Given the description of an element on the screen output the (x, y) to click on. 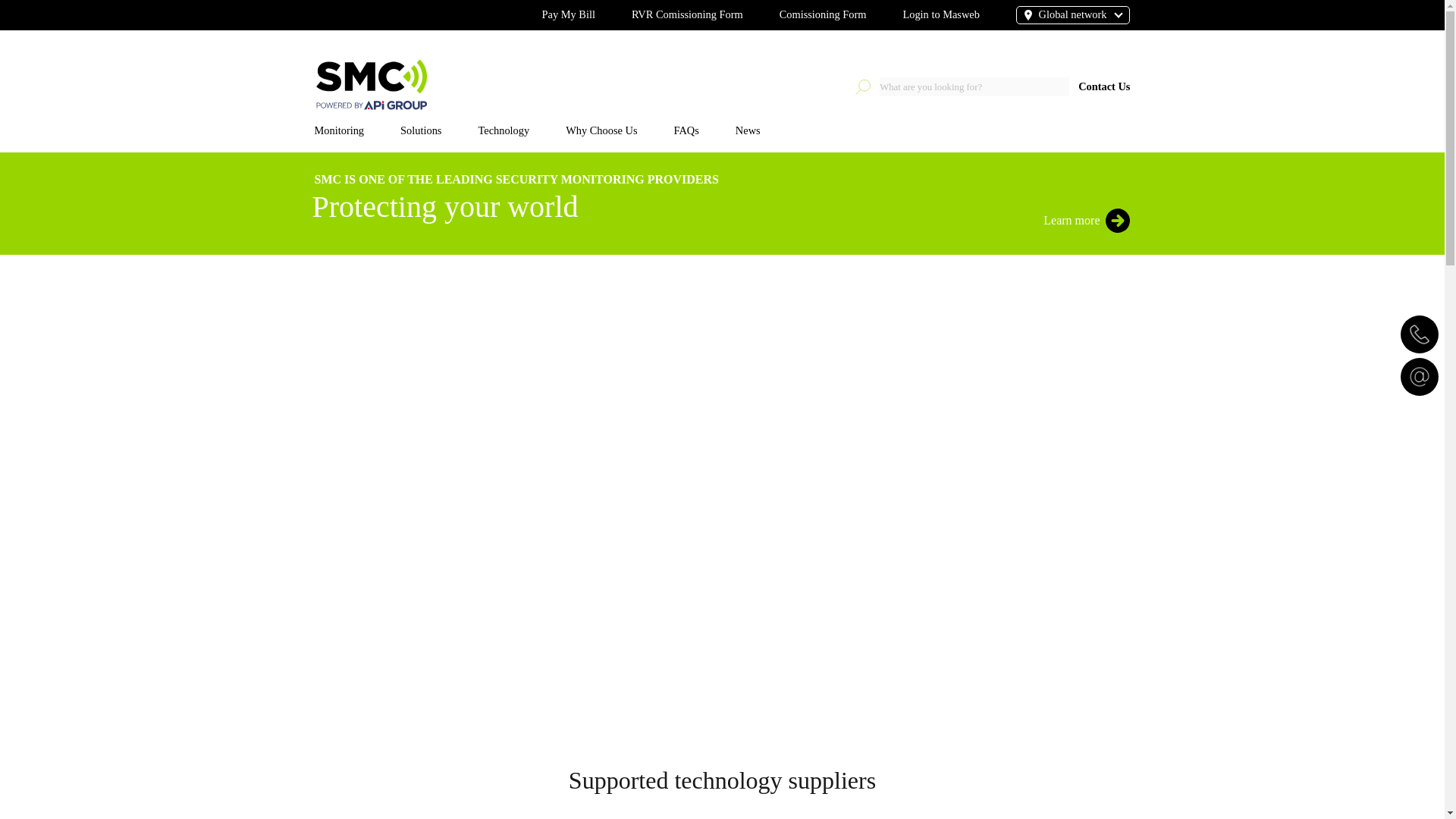
Learn more (1117, 220)
Solutions (438, 130)
Global network (1055, 14)
Comissioning Form (822, 14)
Contact Phone (1419, 333)
Monitoring (357, 130)
Search for: (973, 86)
Pay My Bill (568, 14)
Login to Masweb (940, 14)
Contact Email (1419, 375)
